Given the description of an element on the screen output the (x, y) to click on. 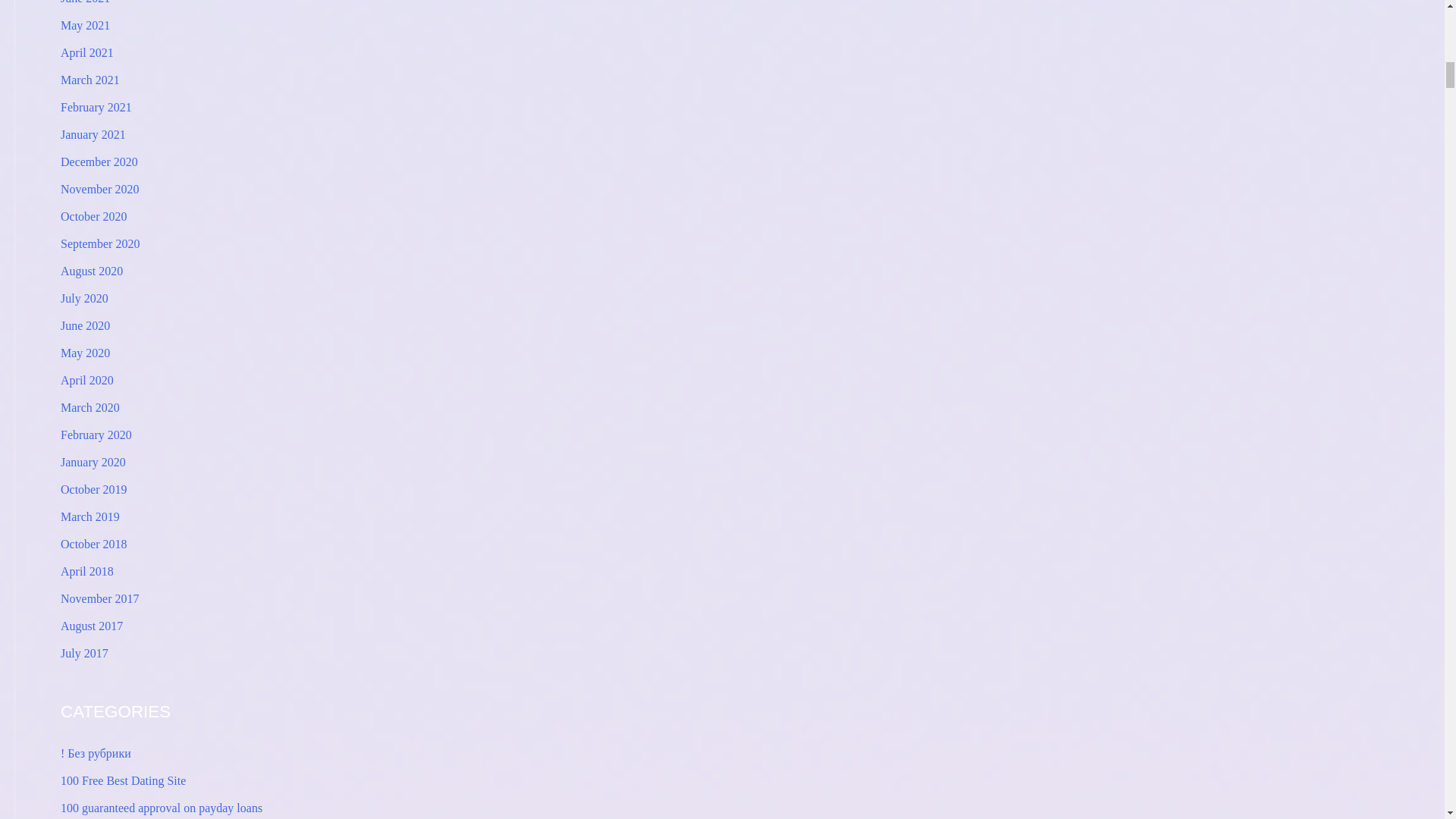
June 2021 (85, 2)
January 2021 (93, 133)
April 2021 (87, 51)
February 2021 (96, 106)
March 2021 (90, 79)
May 2021 (85, 24)
